Given the description of an element on the screen output the (x, y) to click on. 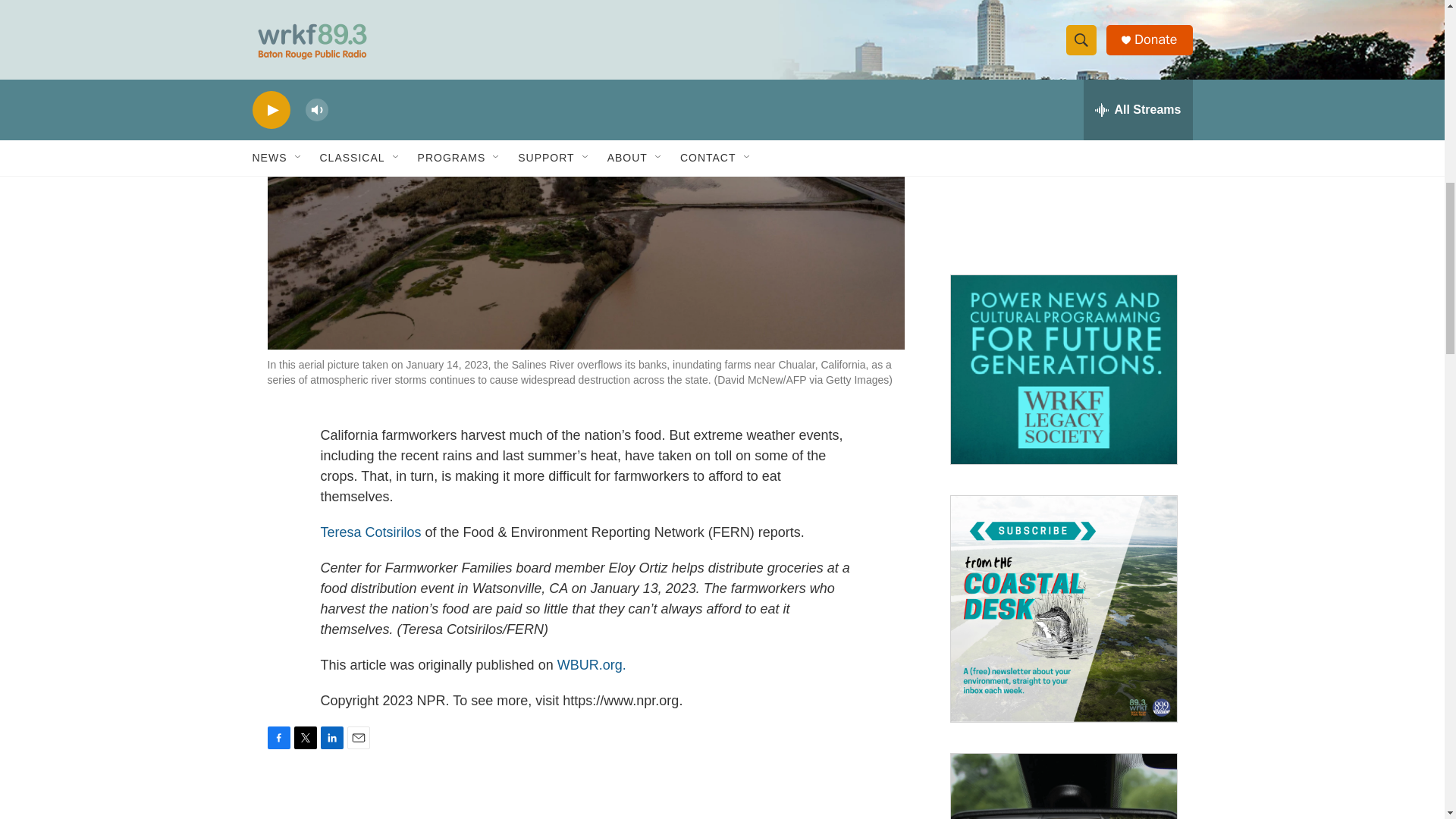
3rd party ad content (1062, 149)
